Given the description of an element on the screen output the (x, y) to click on. 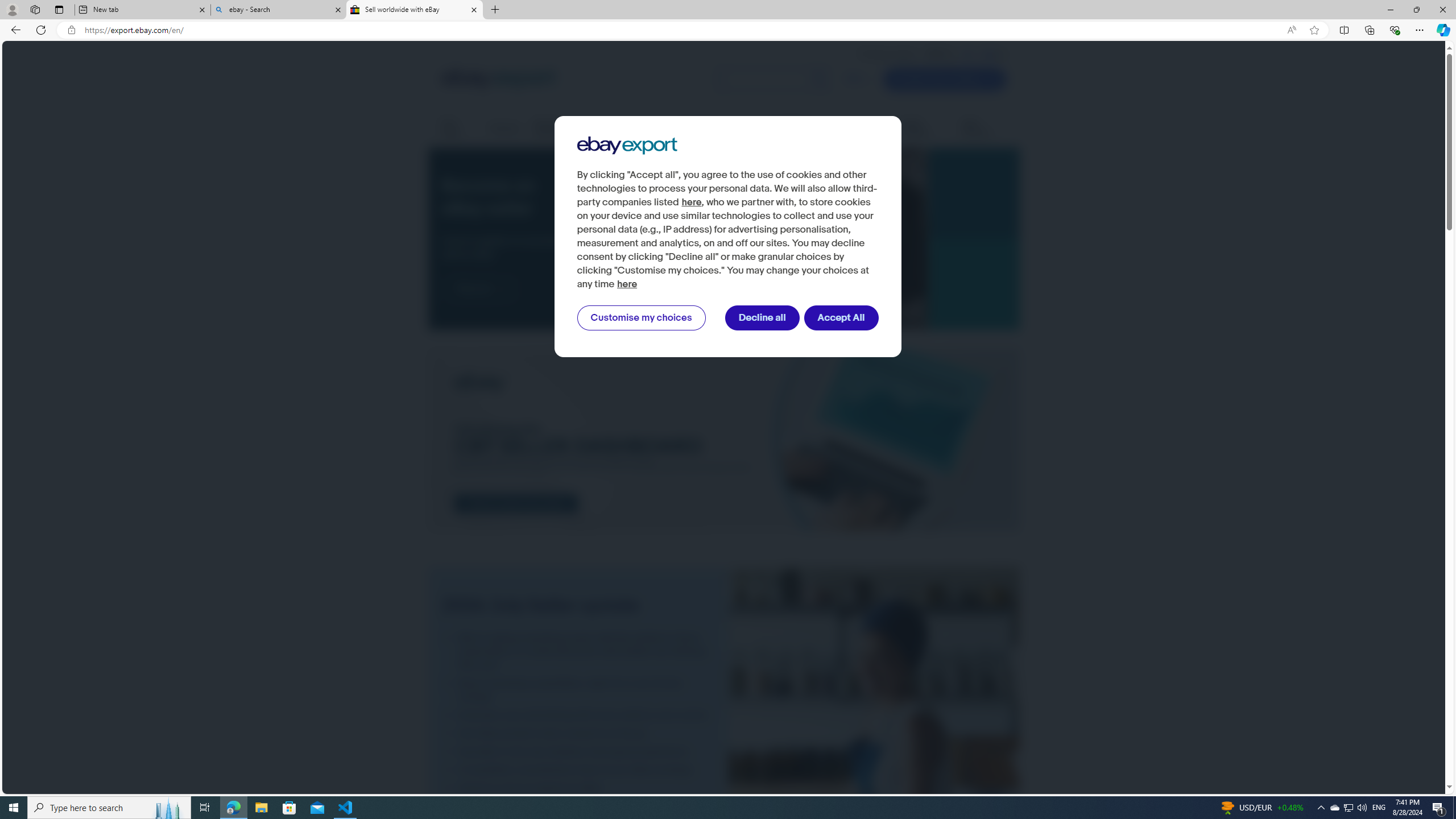
Accept All (841, 317)
Class: search-input__icon (819, 79)
Create Your Listing (944, 78)
here (627, 284)
Class: btn__arrow (501, 288)
Manage listings (558, 128)
Say hello to the new desktop messaging experience (578, 751)
